Given the description of an element on the screen output the (x, y) to click on. 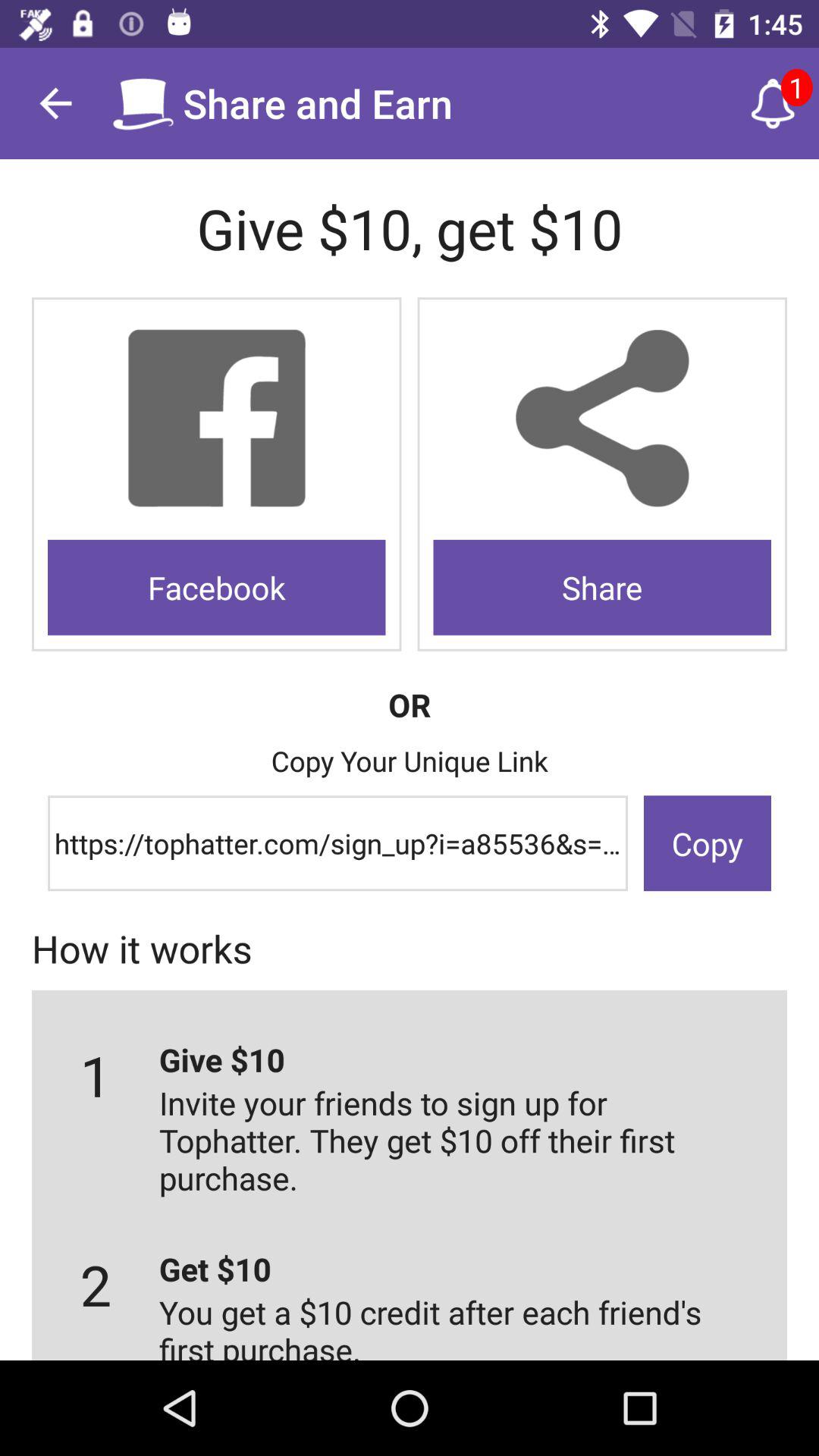
tap facebook (216, 587)
